Given the description of an element on the screen output the (x, y) to click on. 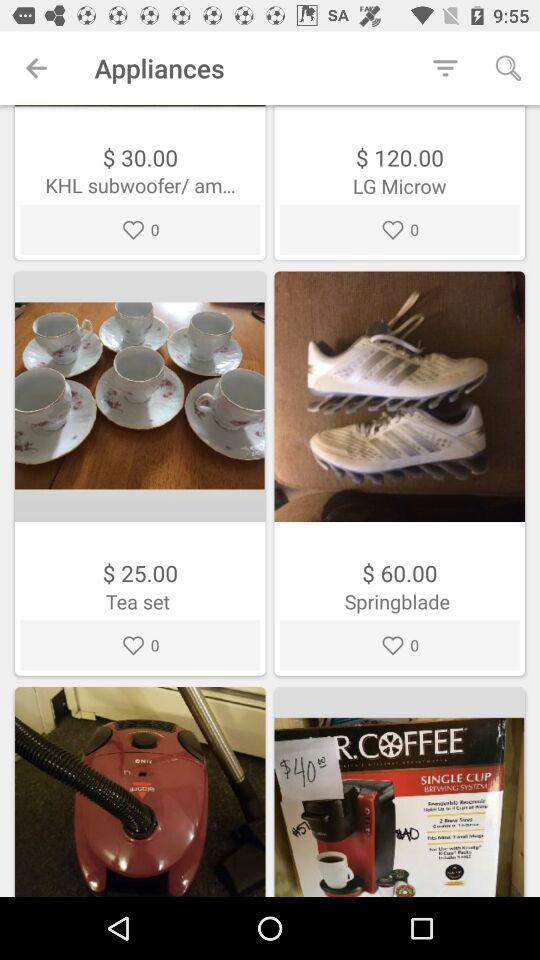
click on the second right image (399, 791)
click on the 2nd image with  6000 (399, 472)
click on the first row second image (399, 396)
click on the first image on the left (140, 396)
click on the text below the search icon (399, 184)
click on the icon beside appliances (445, 68)
click on the button below the text lg microw (400, 230)
select the first option in second row under appliances (140, 472)
select the text on above of the first left image (140, 184)
